Given the description of an element on the screen output the (x, y) to click on. 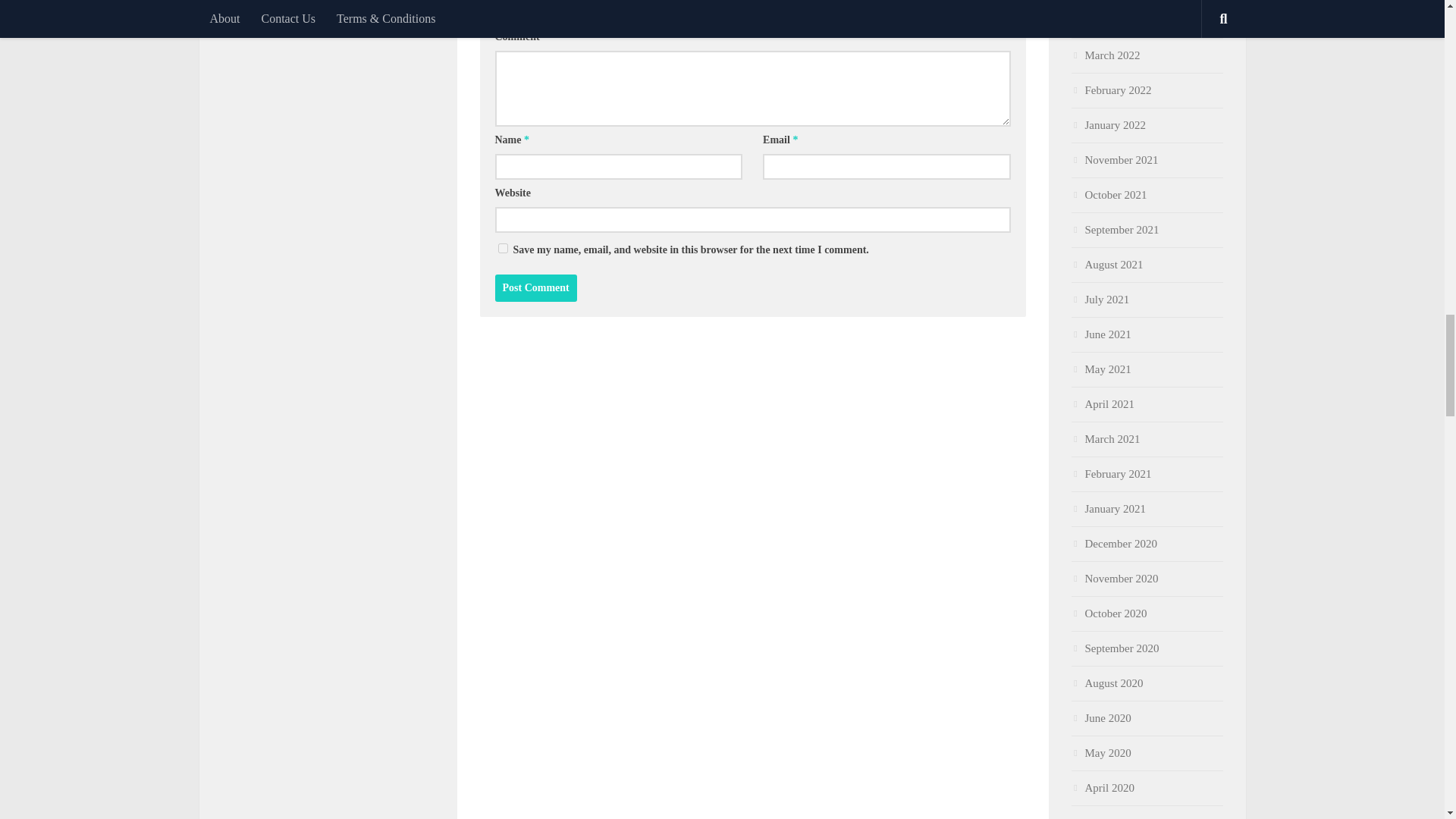
Post Comment (535, 288)
yes (501, 248)
